Given the description of an element on the screen output the (x, y) to click on. 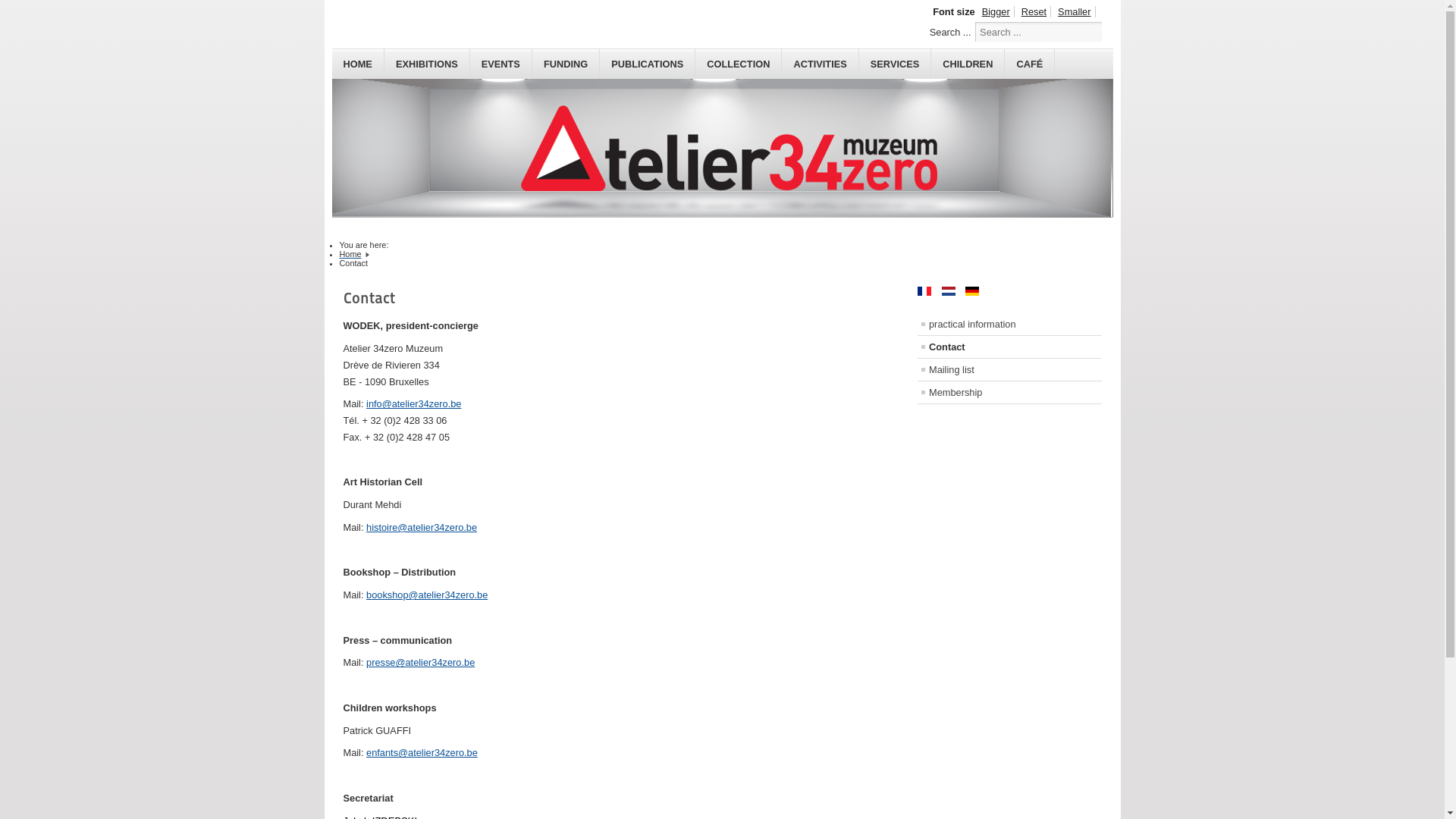
Deutsch (DE) Element type: hover (972, 290)
Mailing list Element type: text (1009, 369)
COLLECTION Element type: text (738, 63)
CHILDREN Element type: text (967, 63)
practical information Element type: text (1009, 324)
HOME Element type: text (358, 63)
Contact Element type: text (1009, 346)
FUNDING Element type: text (565, 63)
PUBLICATIONS Element type: text (647, 63)
info@atelier34zero.be Element type: text (413, 403)
Bigger Element type: text (996, 11)
Smaller Element type: text (1074, 11)
SERVICES Element type: text (895, 63)
enfants@atelier34zero.be Element type: text (421, 752)
ACTIVITIES Element type: text (819, 63)
bookshop@atelier34zero.be Element type: text (426, 594)
Membership Element type: text (1009, 392)
EVENTS Element type: text (501, 63)
Reset Element type: text (1034, 11)
histoire@atelier34zero.be Element type: text (421, 527)
Home Element type: text (350, 253)
EXHIBITIONS Element type: text (427, 63)
Nederlands (Nl) Element type: hover (948, 290)
presse@atelier34zero.be Element type: text (420, 662)
